Given the description of an element on the screen output the (x, y) to click on. 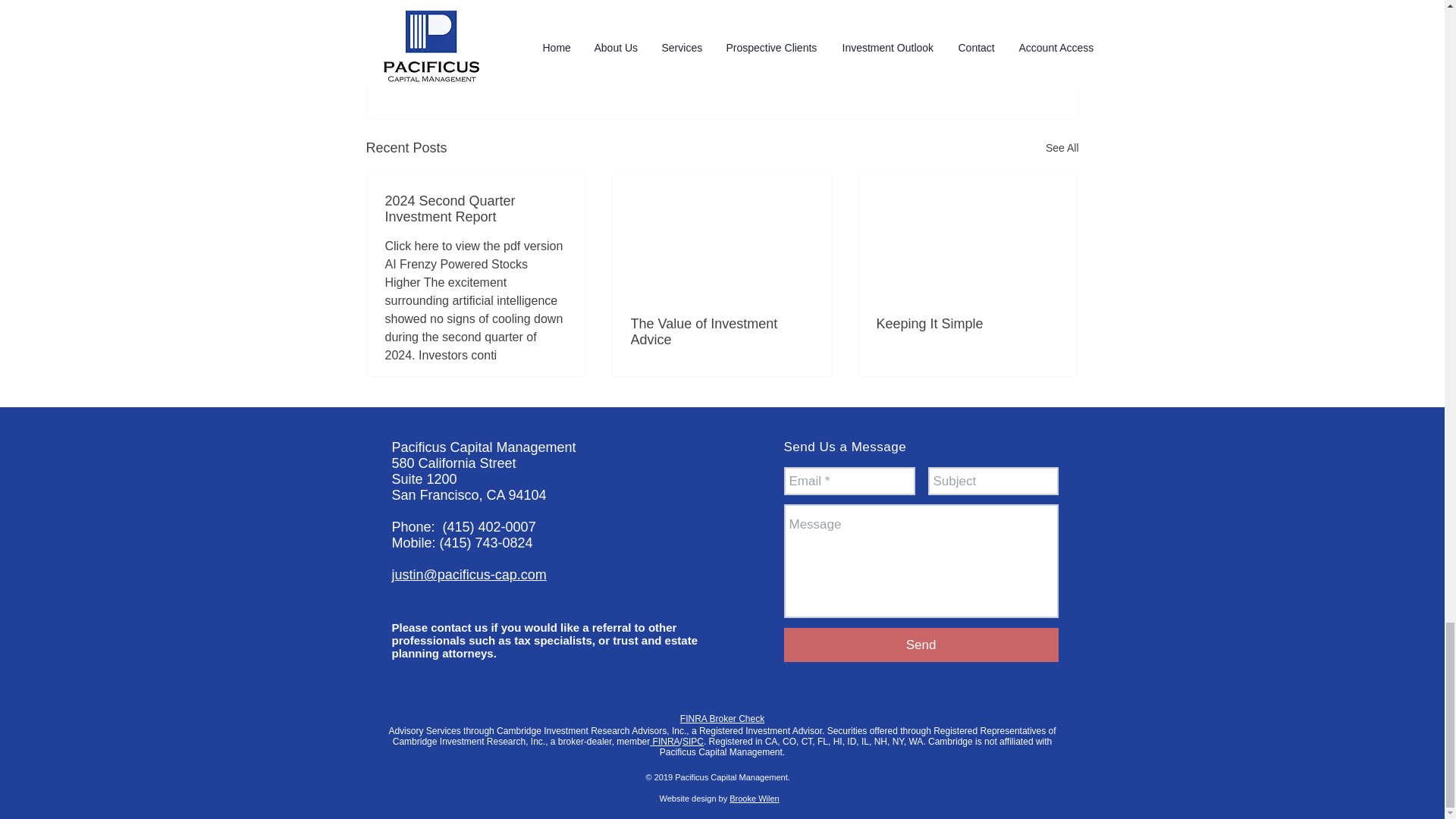
The Value of Investment Advice (721, 332)
See All (1061, 147)
Send (921, 644)
FINRA Broker Check (721, 718)
Keeping It Simple (967, 324)
Brooke Wilen (753, 798)
SIPC (692, 741)
2024 Second Quarter Investment Report (476, 209)
 FINRA (664, 741)
